Given the description of an element on the screen output the (x, y) to click on. 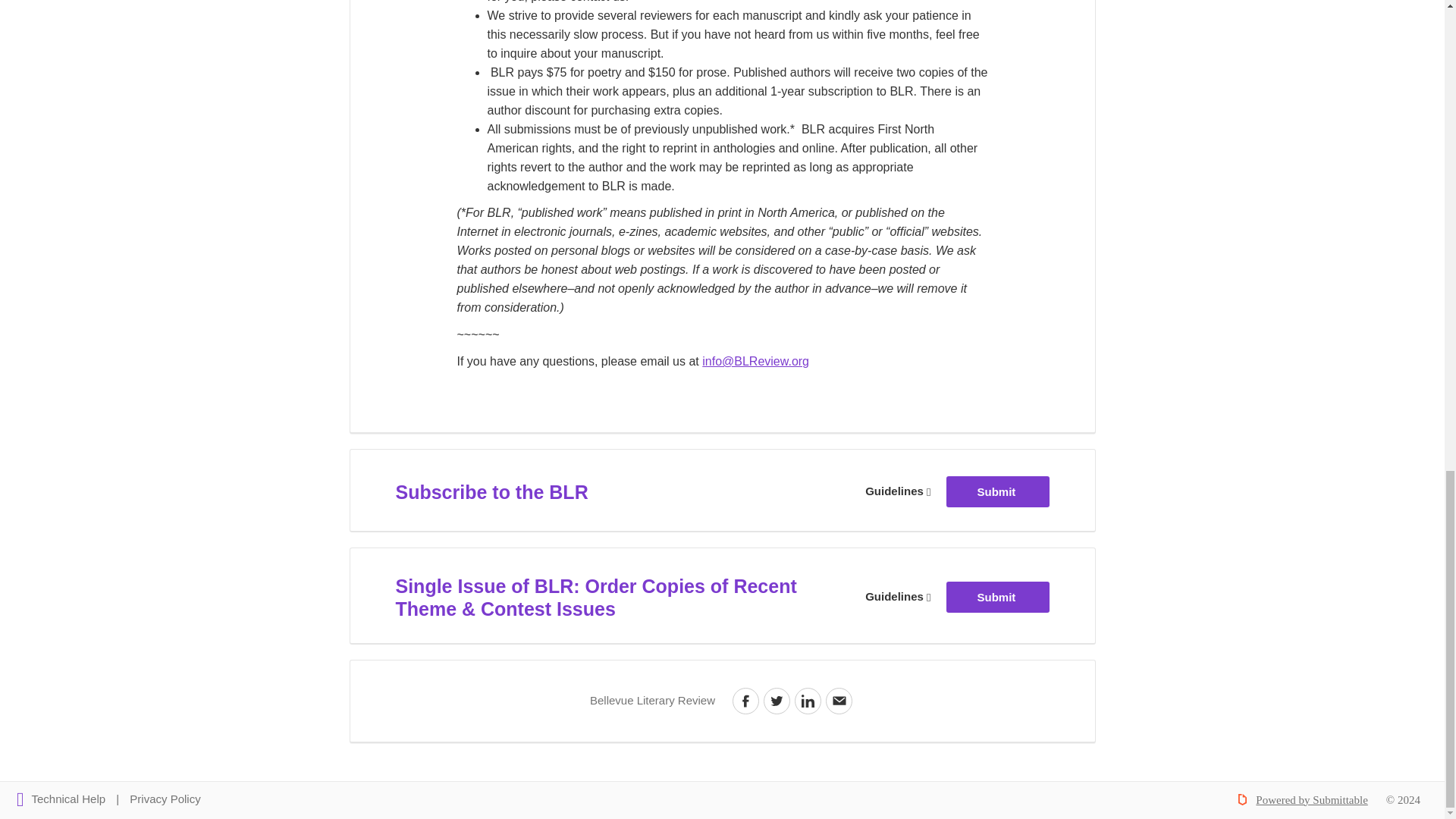
Subscribe to the BLR (492, 491)
Powered by Submittable (997, 490)
Share via Facebook (897, 595)
Share via LinkedIn (1311, 800)
Share via Twitter (745, 700)
Share via Email (807, 700)
Privacy Policy (897, 490)
Technical Help (777, 700)
